Given the description of an element on the screen output the (x, y) to click on. 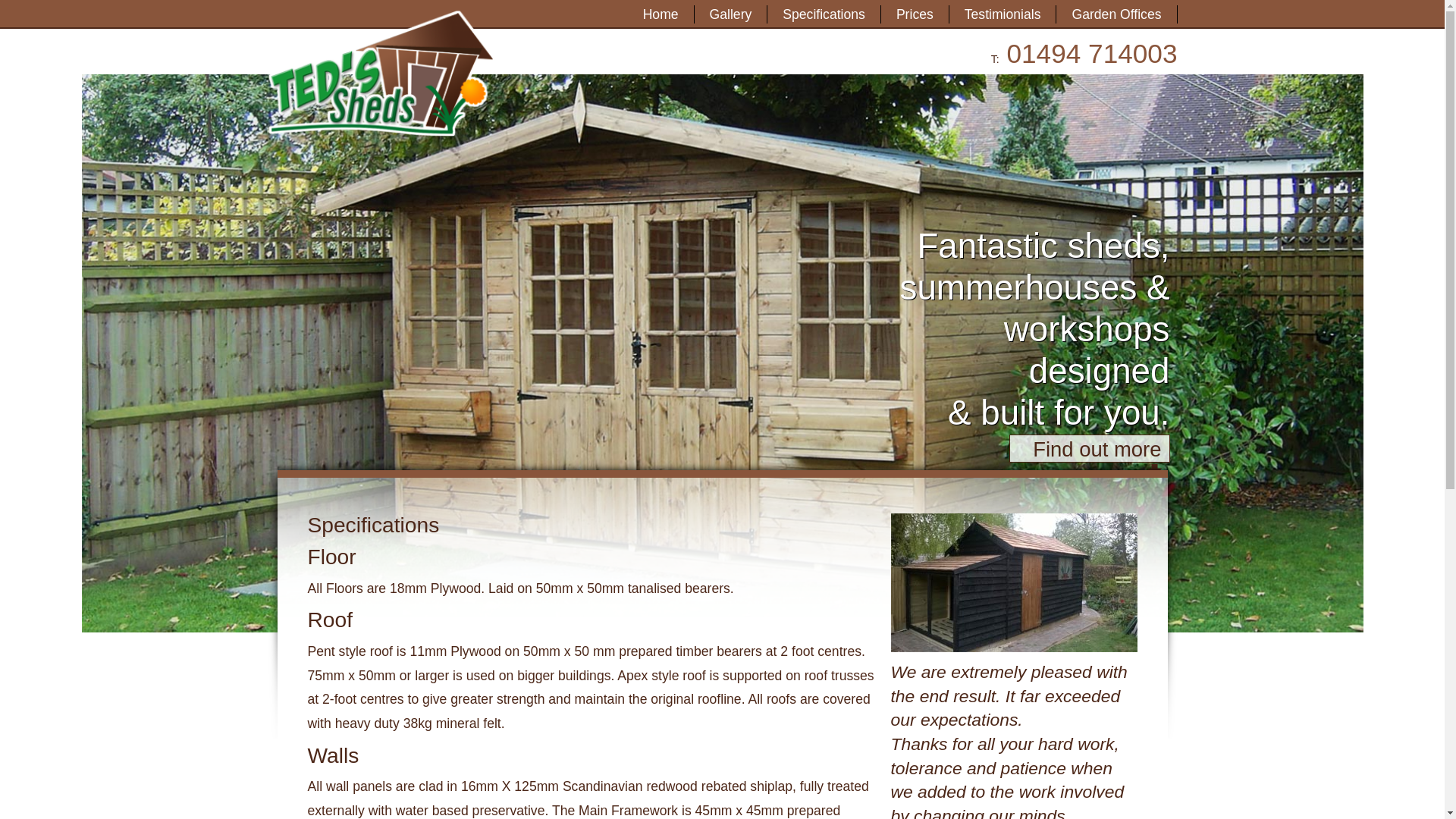
Testimionials (1003, 13)
Specifications (823, 13)
01494 714003 (1091, 52)
Gallery (731, 13)
Home (660, 13)
Find out more (1089, 448)
Garden Offices (1116, 13)
Prices (914, 13)
